Given the description of an element on the screen output the (x, y) to click on. 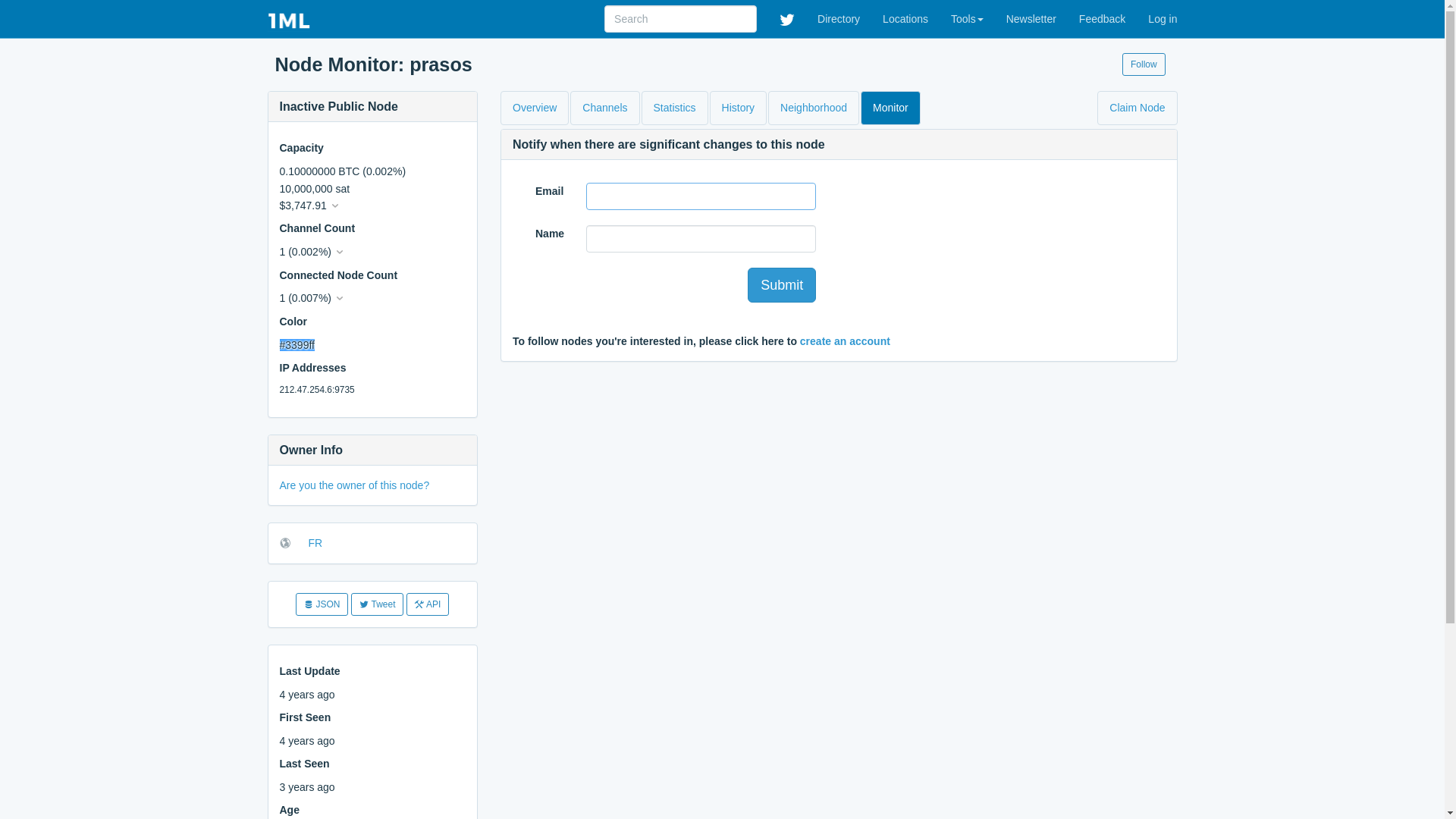
Channels Element type: text (604, 107)
Monitor Element type: text (890, 107)
JSON Element type: text (321, 604)
Directory Element type: text (838, 18)
Follow Element type: text (1143, 64)
Claim Node Element type: text (1136, 107)
Locations Element type: text (905, 18)
Tweet Element type: text (377, 604)
FR Element type: text (314, 542)
Neighborhood Element type: text (813, 107)
Tools Element type: text (966, 18)
API Element type: text (427, 604)
create an account Element type: text (845, 341)
Feedback Element type: text (1101, 18)
Newsletter Element type: text (1030, 18)
Log in Element type: text (1162, 18)
Are you the owner of this node? Element type: text (354, 485)
Statistics Element type: text (674, 107)
History Element type: text (738, 107)
Overview Element type: text (534, 107)
Submit Element type: text (781, 284)
